Given the description of an element on the screen output the (x, y) to click on. 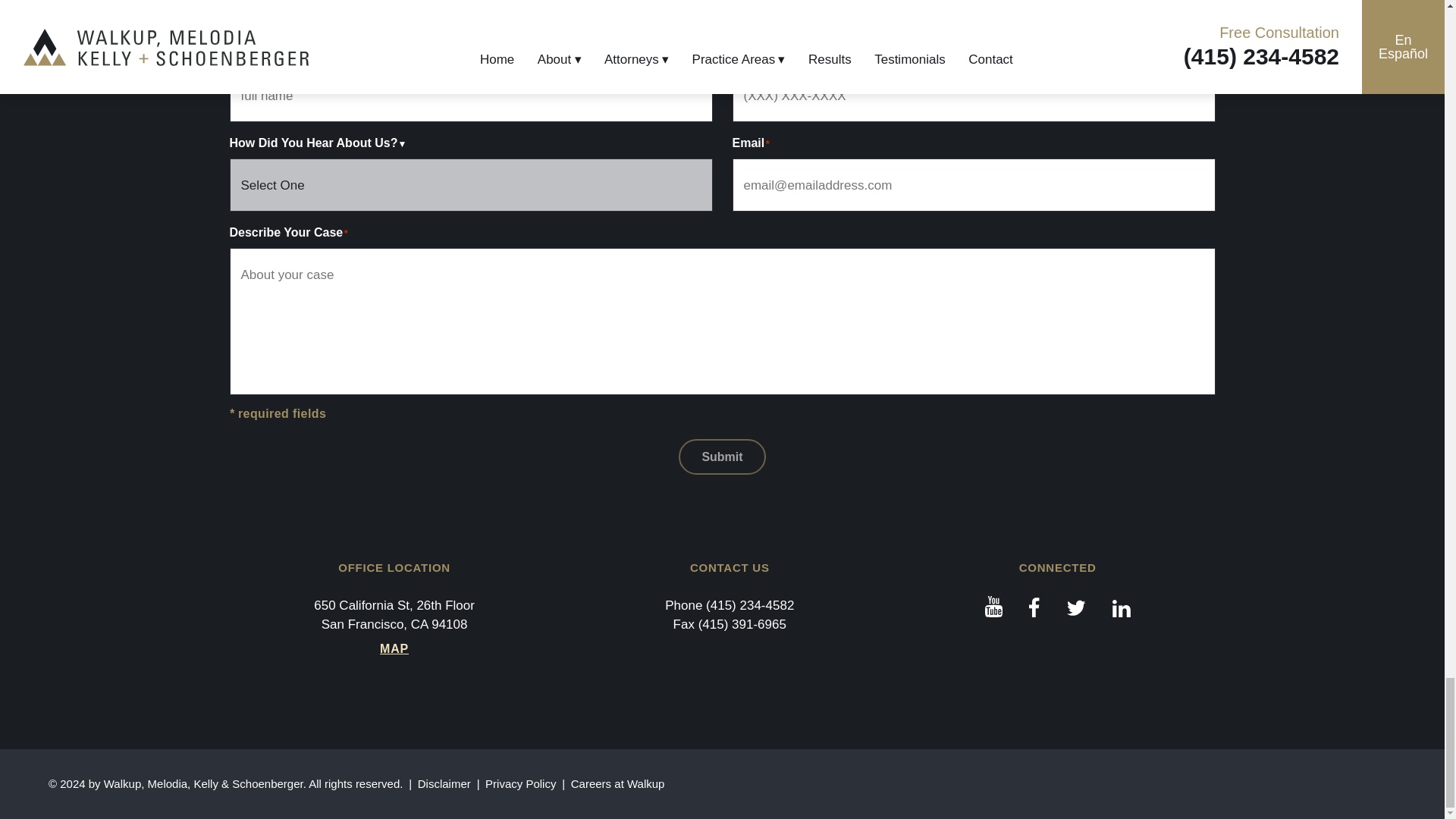
Fax (742, 624)
Twitter (1076, 606)
Phone (749, 605)
